Given the description of an element on the screen output the (x, y) to click on. 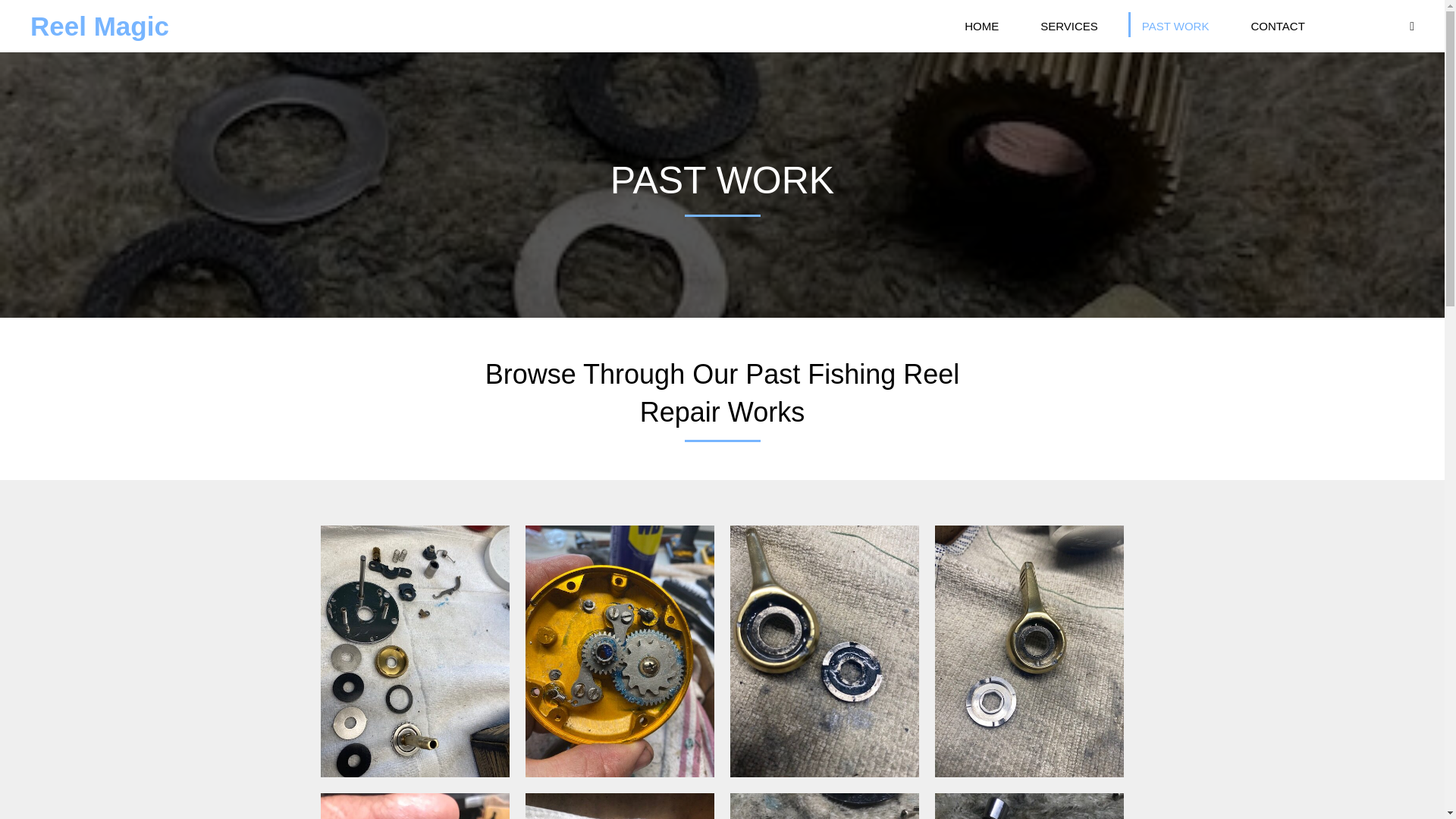
CONTACT (1277, 24)
SERVICES (1069, 24)
Reel Magic (99, 25)
PAST WORK (1174, 24)
Reel Magic (99, 25)
HOME (981, 24)
